Given the description of an element on the screen output the (x, y) to click on. 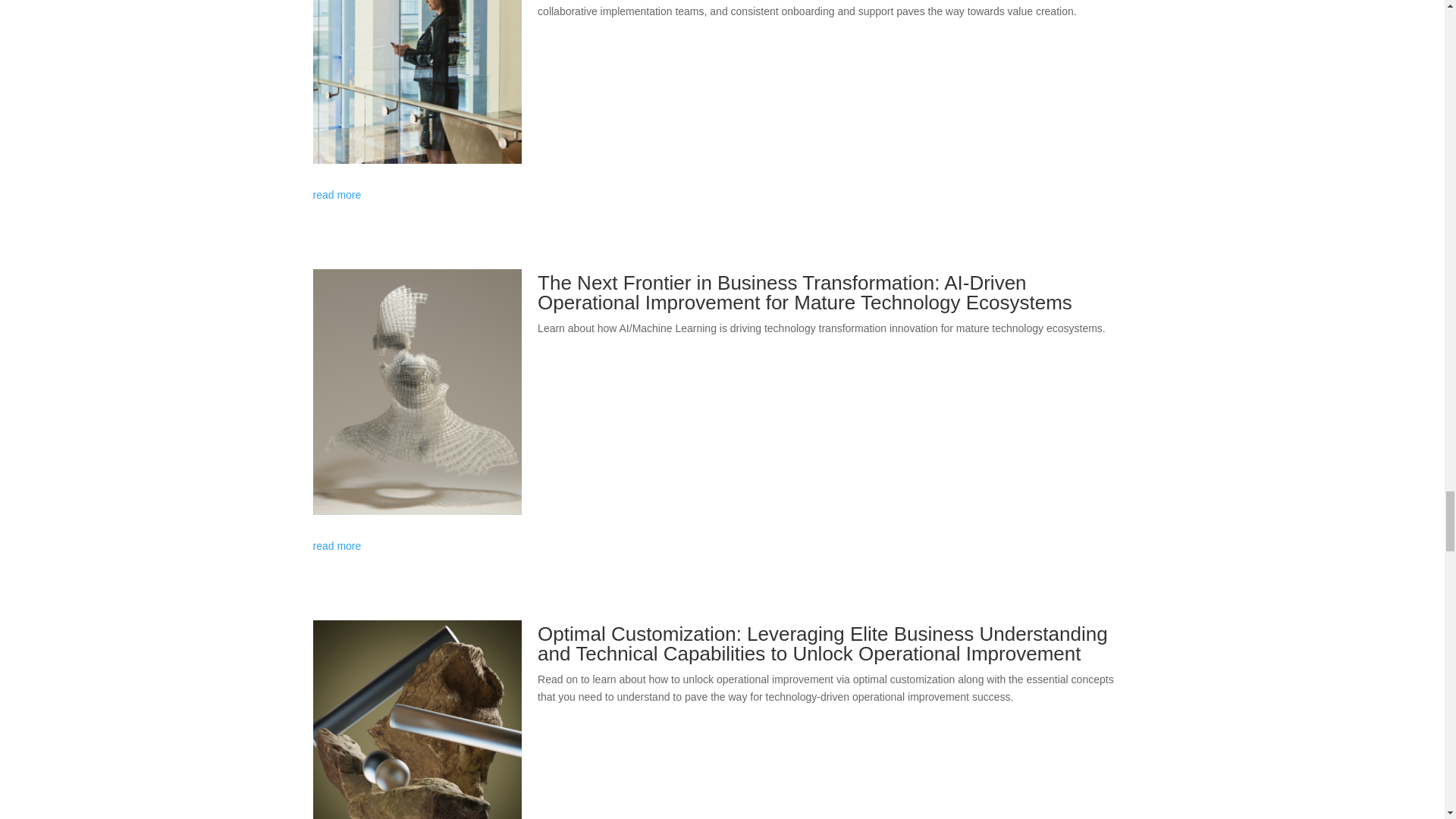
read more (722, 195)
read more (722, 546)
